Given the description of an element on the screen output the (x, y) to click on. 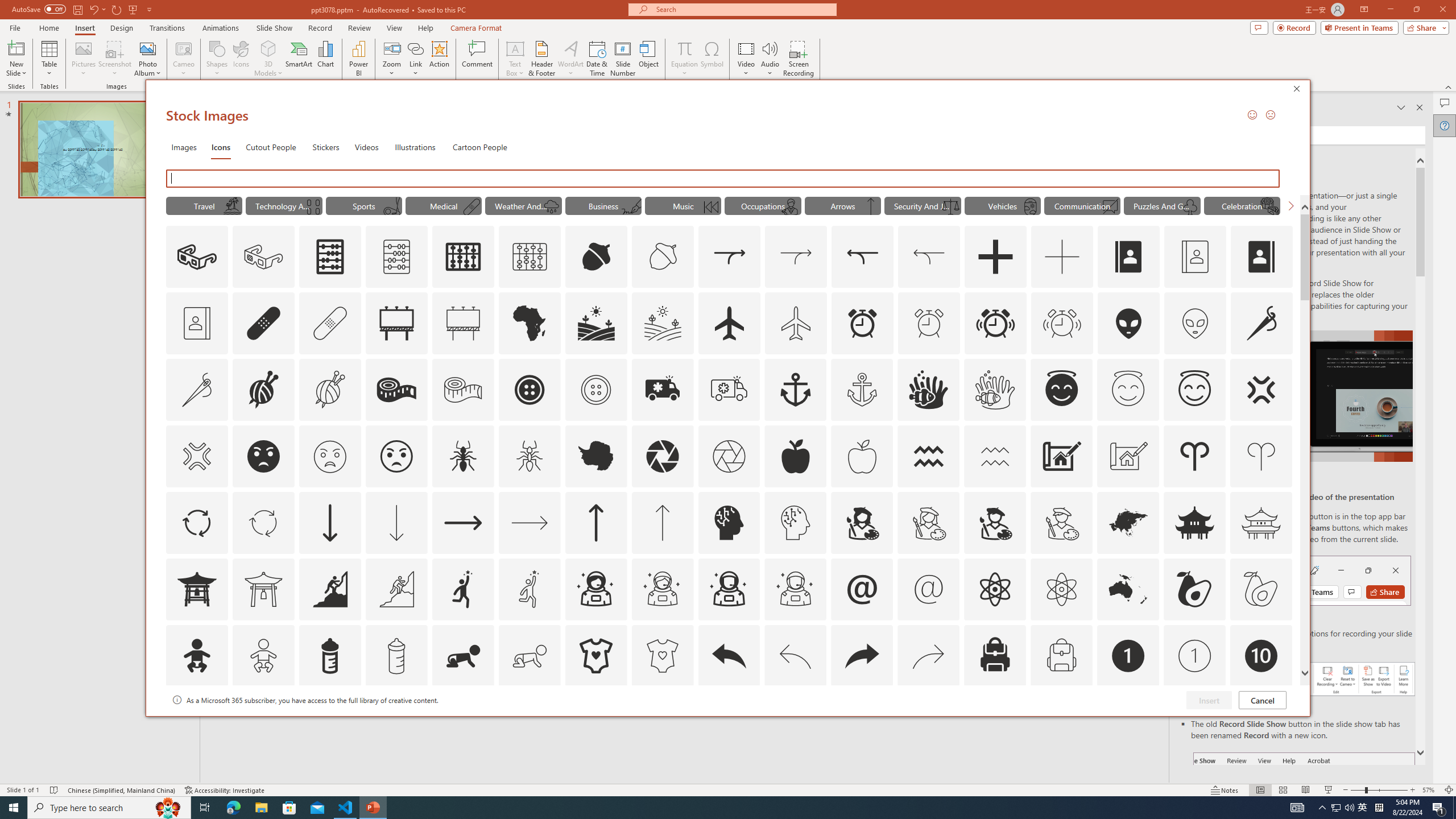
Object... (649, 58)
AutomationID: Icons_AlterationsTailoring2 (395, 389)
AutomationID: Icons_Acorn_M (663, 256)
AutomationID: Icons_Aspiration_M (395, 588)
AutomationID: Icons_BabyCrawling_M (529, 655)
AutomationID: Icons_Aspiration1_M (529, 588)
"Communication" Icons. (1082, 205)
AutomationID: Icons_Aspiration1 (462, 588)
AutomationID: Icons_AsianTemple_M (1260, 522)
